Given the description of an element on the screen output the (x, y) to click on. 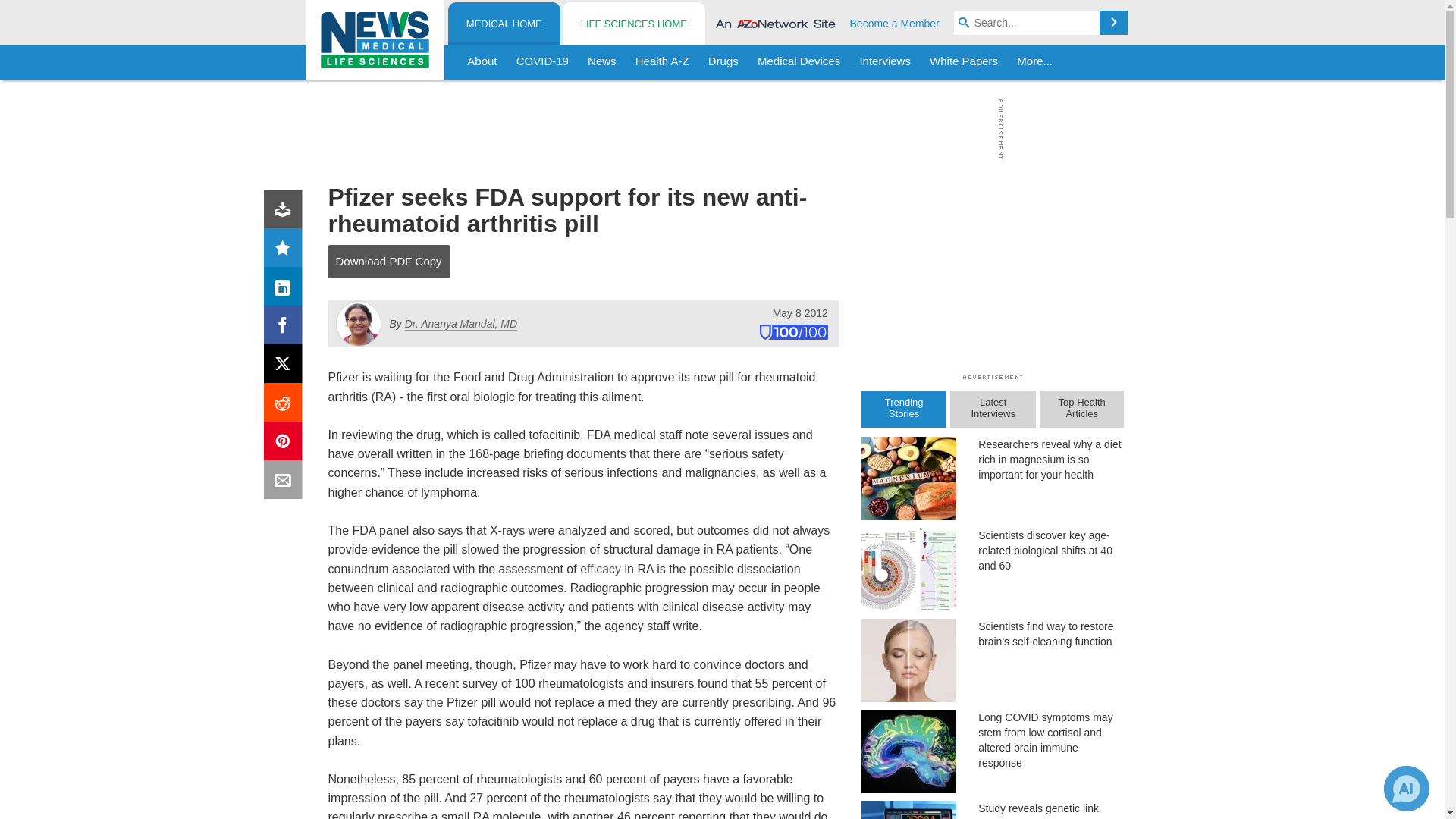
Drugs (722, 62)
LinkedIn (285, 289)
LIFE SCIENCES HOME (633, 23)
Download PDF copy (285, 212)
Health A-Z (662, 62)
White Papers (963, 62)
Search (1112, 22)
News (601, 62)
Facebook (285, 328)
